Given the description of an element on the screen output the (x, y) to click on. 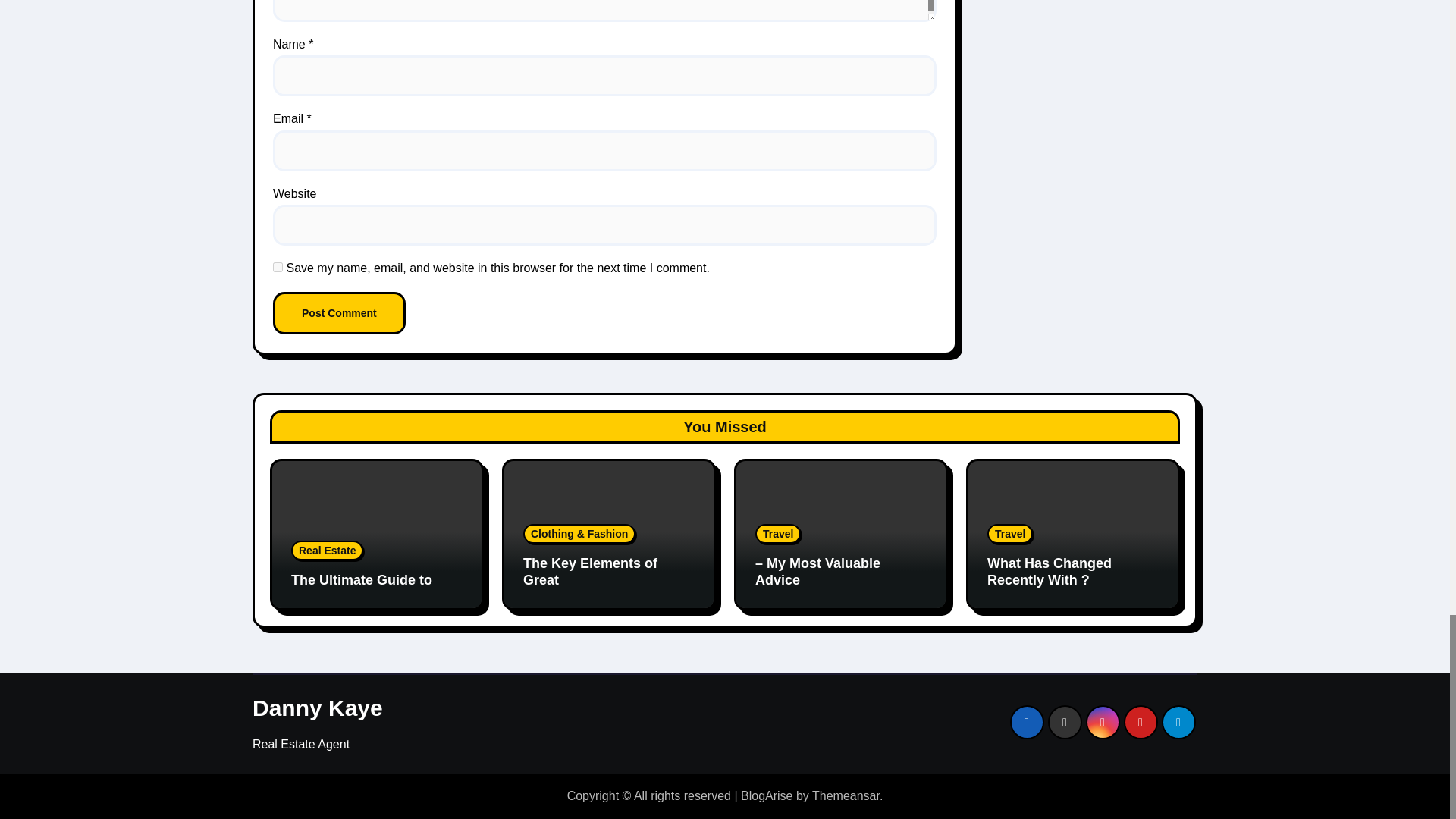
Permalink to: The Key Elements of Great (590, 572)
yes (277, 266)
Post Comment (339, 312)
Permalink to: The Ultimate Guide to (361, 580)
Permalink to: What Has Changed Recently With ? (1049, 572)
